Given the description of an element on the screen output the (x, y) to click on. 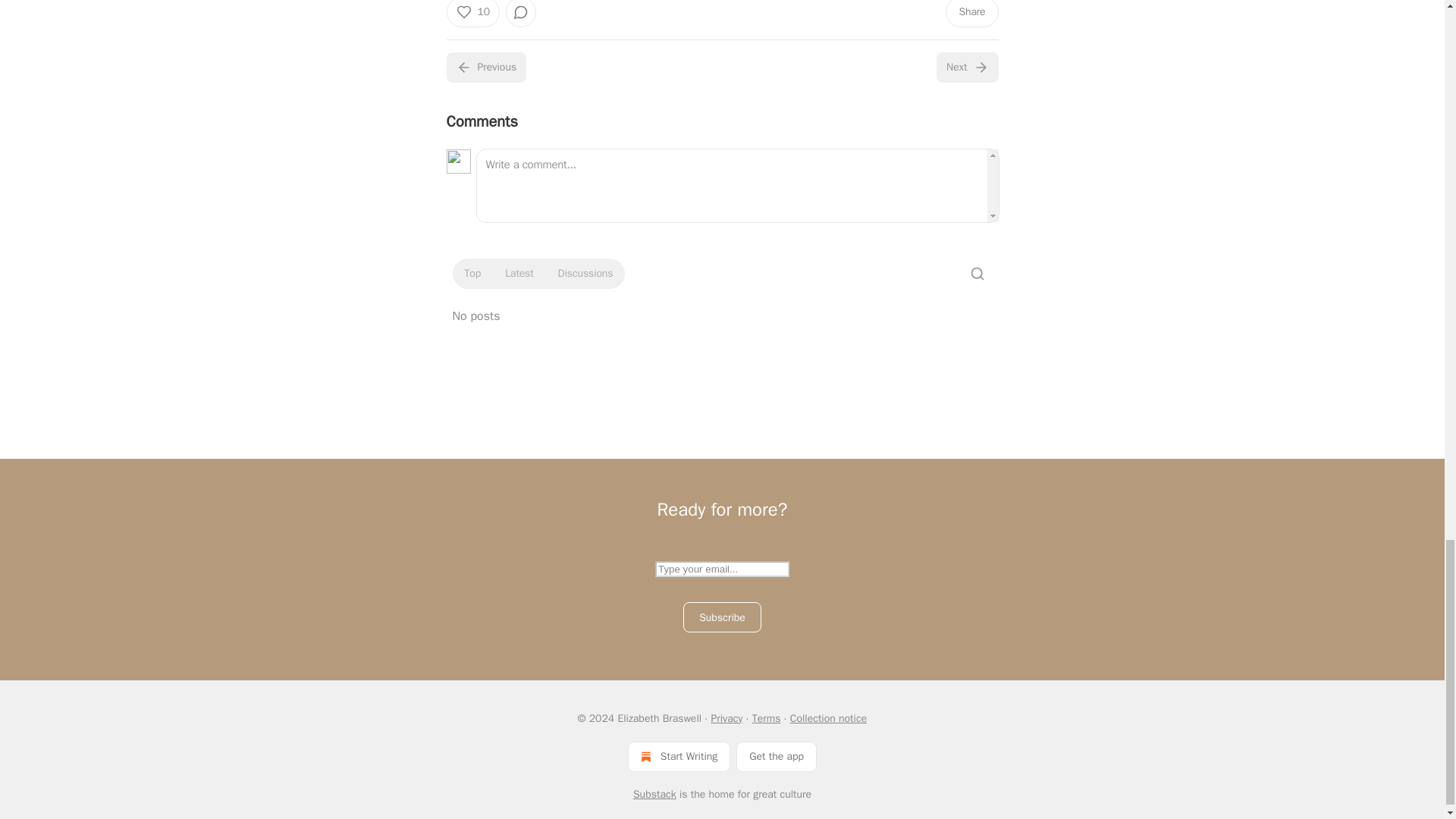
Discussions (585, 273)
Subscribe (721, 616)
Latest (518, 273)
Top (471, 273)
Share (970, 13)
Previous (485, 67)
Next (966, 67)
10 (472, 13)
